Given the description of an element on the screen output the (x, y) to click on. 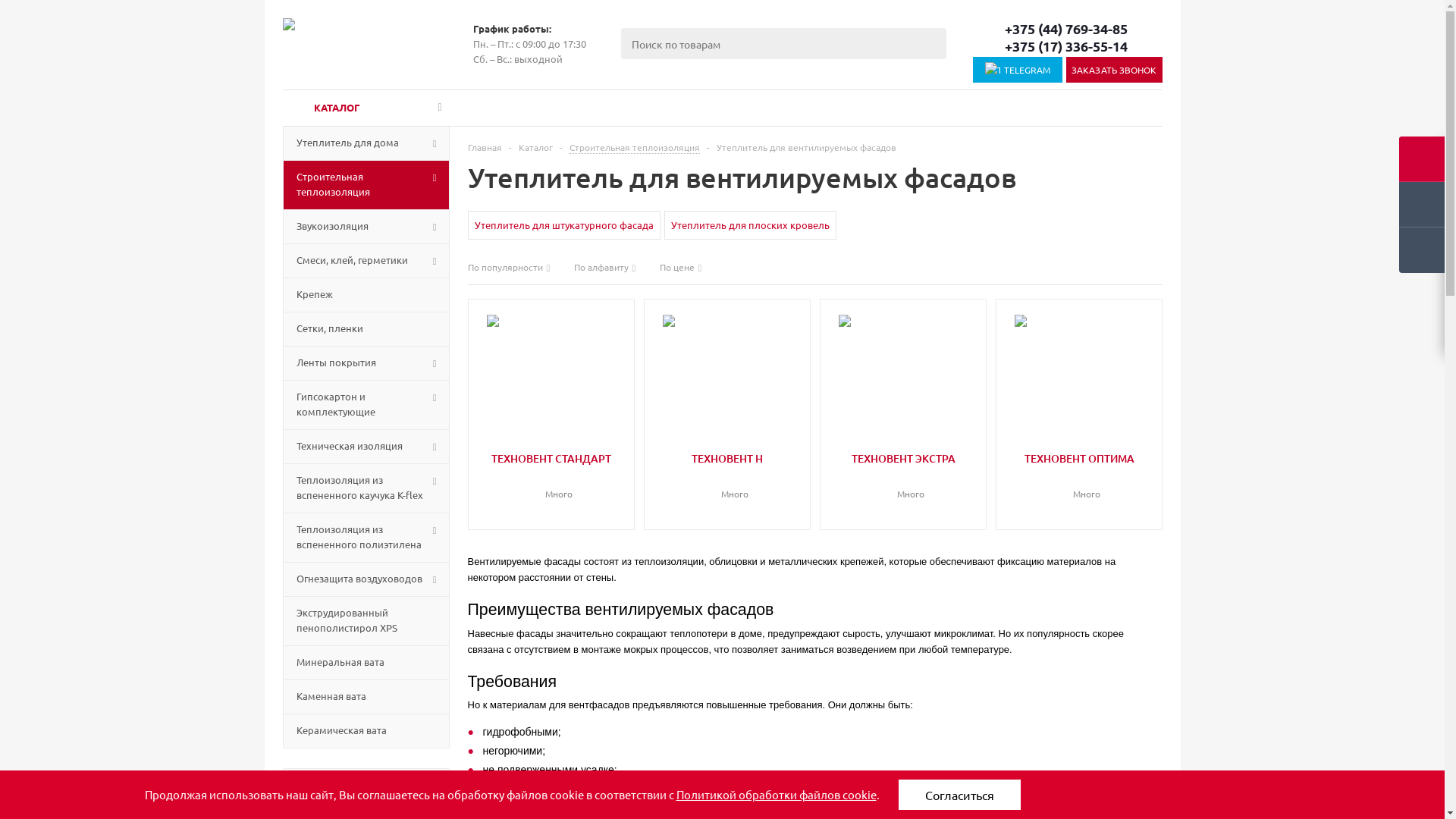
Y Element type: text (4, 4)
1 Element type: hover (880, 475)
3 Element type: hover (903, 475)
TIZ.BY Element type: hover (358, 43)
3 Element type: hover (551, 475)
3 Element type: hover (1079, 475)
TELEGRAM Element type: text (1017, 69)
5 Element type: hover (750, 475)
4 Element type: hover (913, 475)
+375 (17) 336-55-14  Element type: text (1066, 46)
4 Element type: hover (737, 475)
2 Element type: hover (1067, 475)
2 Element type: hover (715, 475)
5 Element type: hover (574, 475)
1 Element type: hover (1056, 475)
2 Element type: hover (539, 475)
1 Element type: hover (704, 475)
5 Element type: hover (925, 475)
4 Element type: hover (1089, 475)
3 Element type: hover (727, 475)
5 Element type: hover (1101, 475)
2 Element type: hover (891, 475)
4 Element type: hover (561, 475)
+375 (44) 769-34-85  Element type: text (1066, 28)
1 Element type: hover (528, 475)
